Given the description of an element on the screen output the (x, y) to click on. 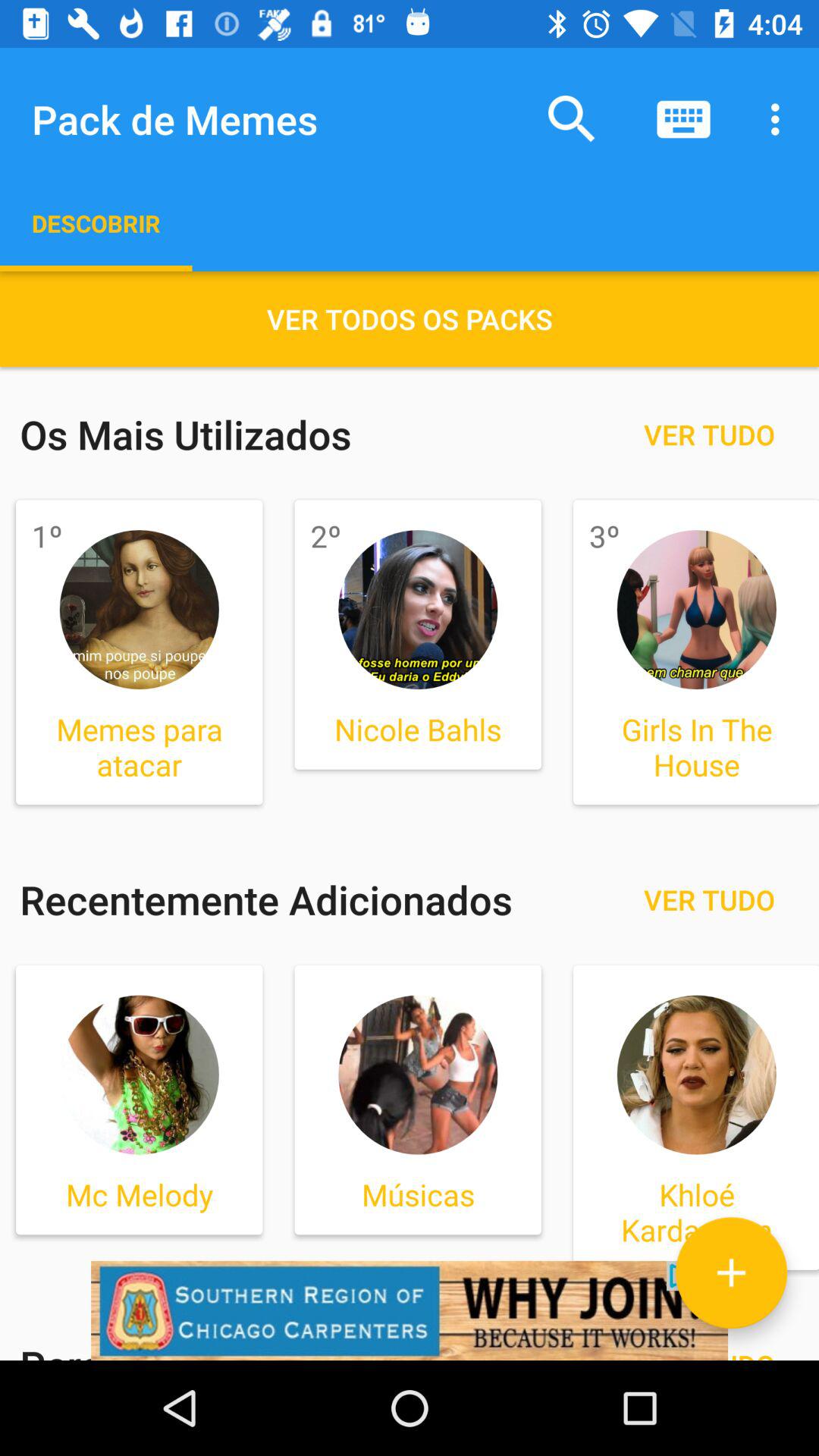
add new pack (731, 1272)
